Given the description of an element on the screen output the (x, y) to click on. 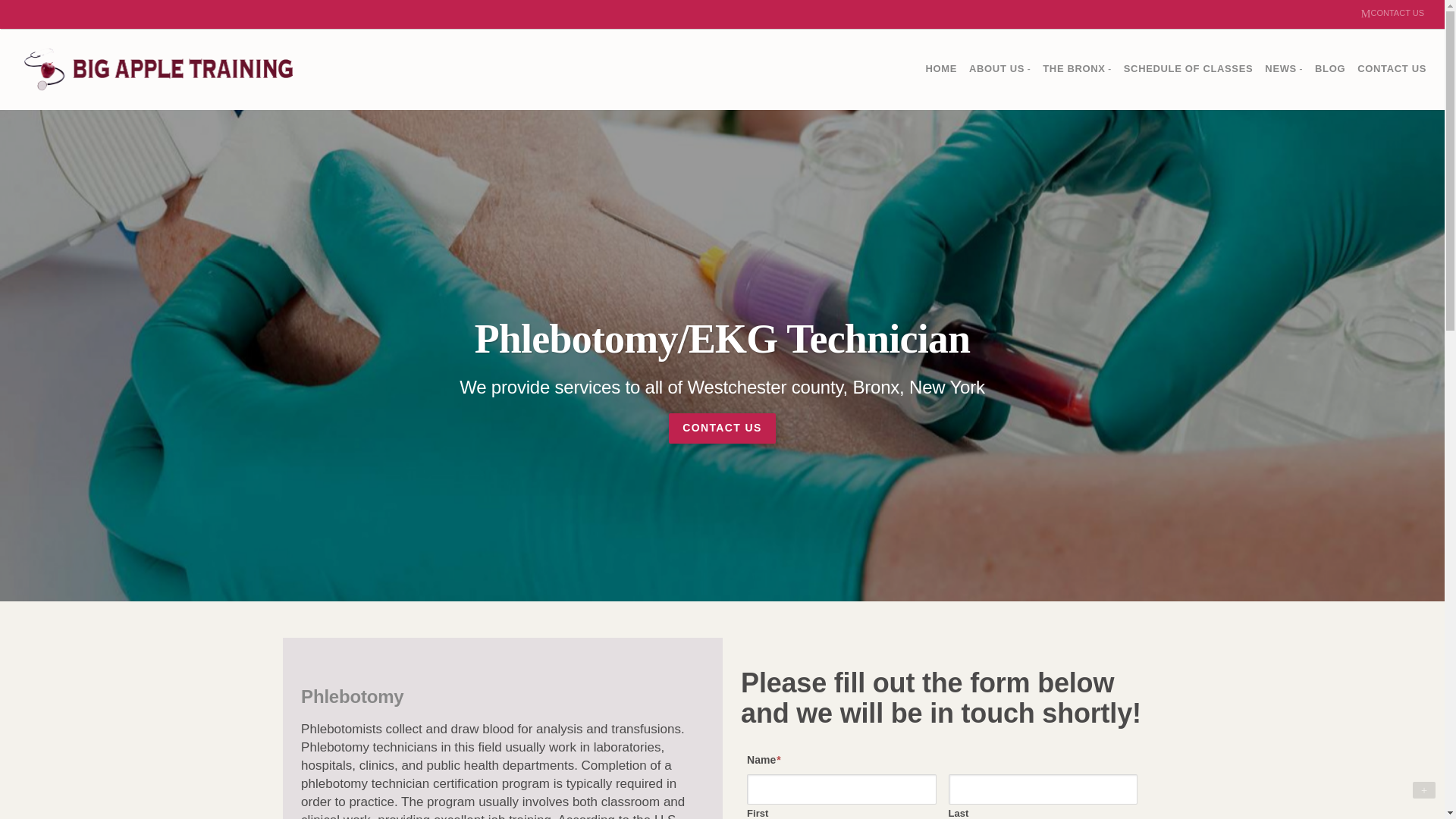
CONTACT US (1392, 13)
THE BRONX (1077, 69)
Big Apple Training Inc. (157, 68)
ABOUT US (999, 69)
BLOG (1329, 68)
Contact Us (1392, 13)
CONTACT US (1391, 68)
SCHEDULE OF CLASSES (1188, 68)
HOME (940, 68)
NEWS (1283, 69)
